Given the description of an element on the screen output the (x, y) to click on. 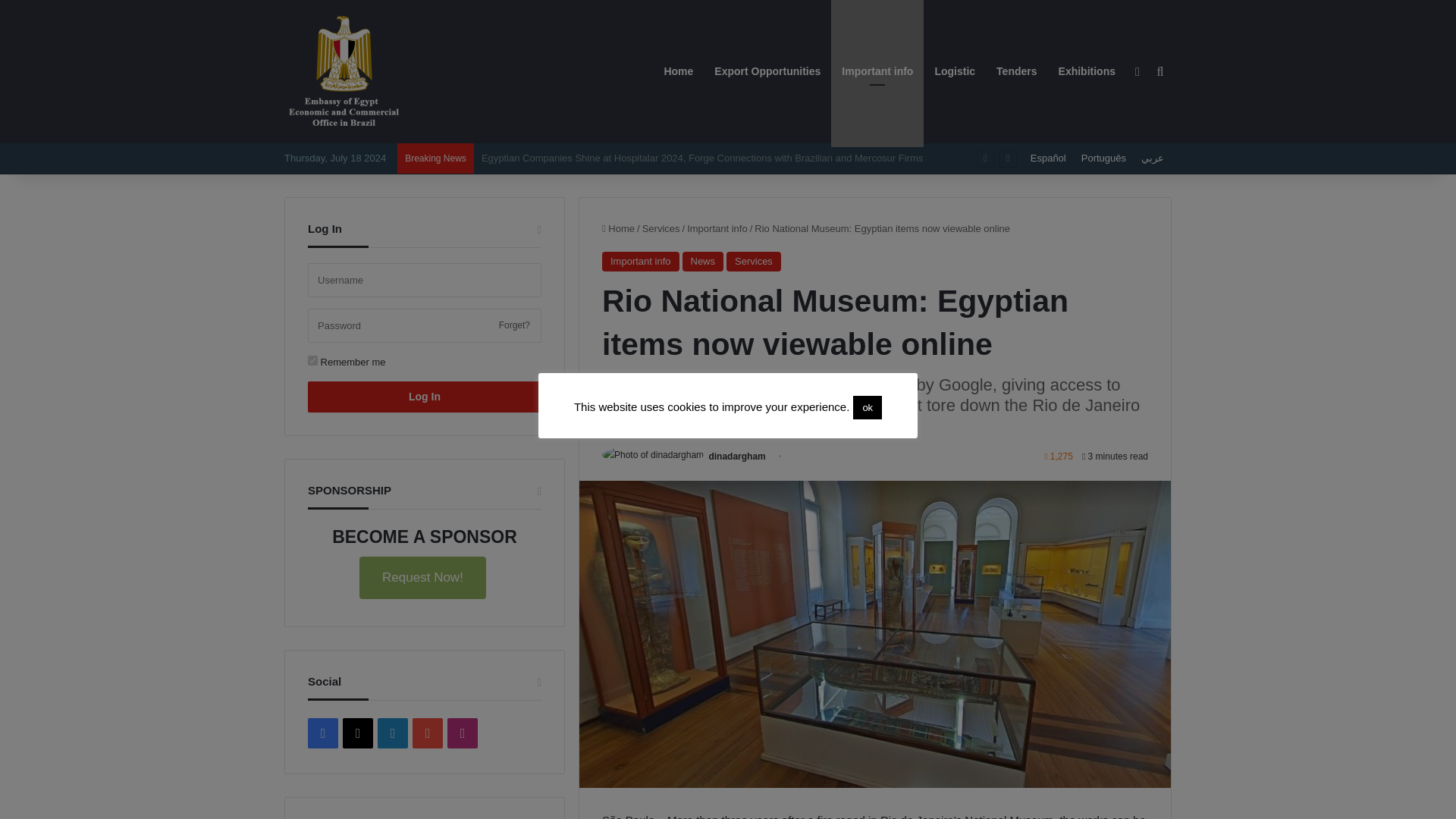
forever (312, 360)
dinadargham (736, 456)
Important info (717, 228)
Password (424, 325)
Egyptian Economic and Commercial Office in Brazil (344, 71)
Important info (640, 261)
dinadargham (736, 456)
Username (424, 279)
Home (618, 228)
Services (753, 261)
Services (660, 228)
News (702, 261)
